Given the description of an element on the screen output the (x, y) to click on. 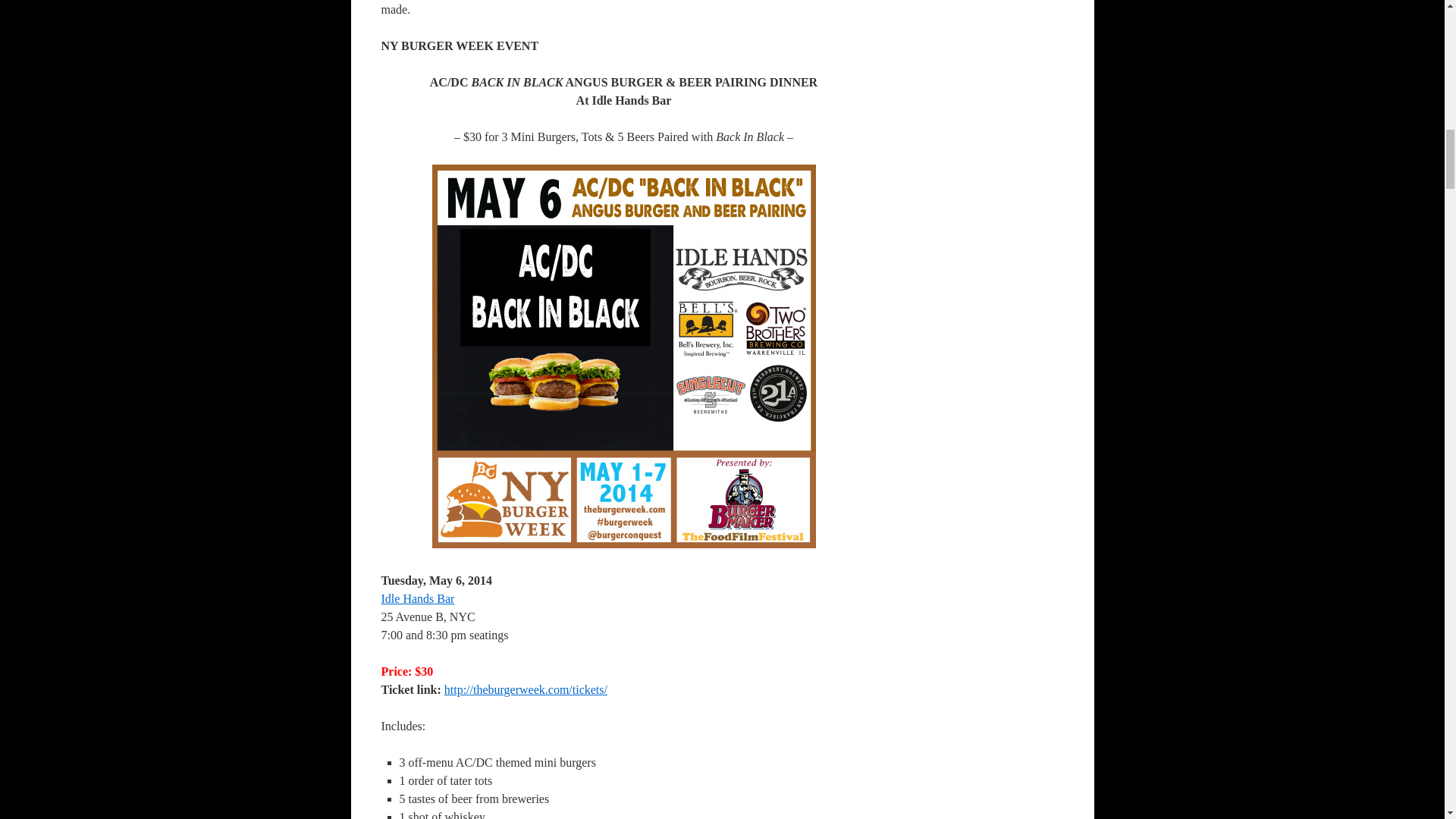
Idle Hands Bar (417, 598)
